Given the description of an element on the screen output the (x, y) to click on. 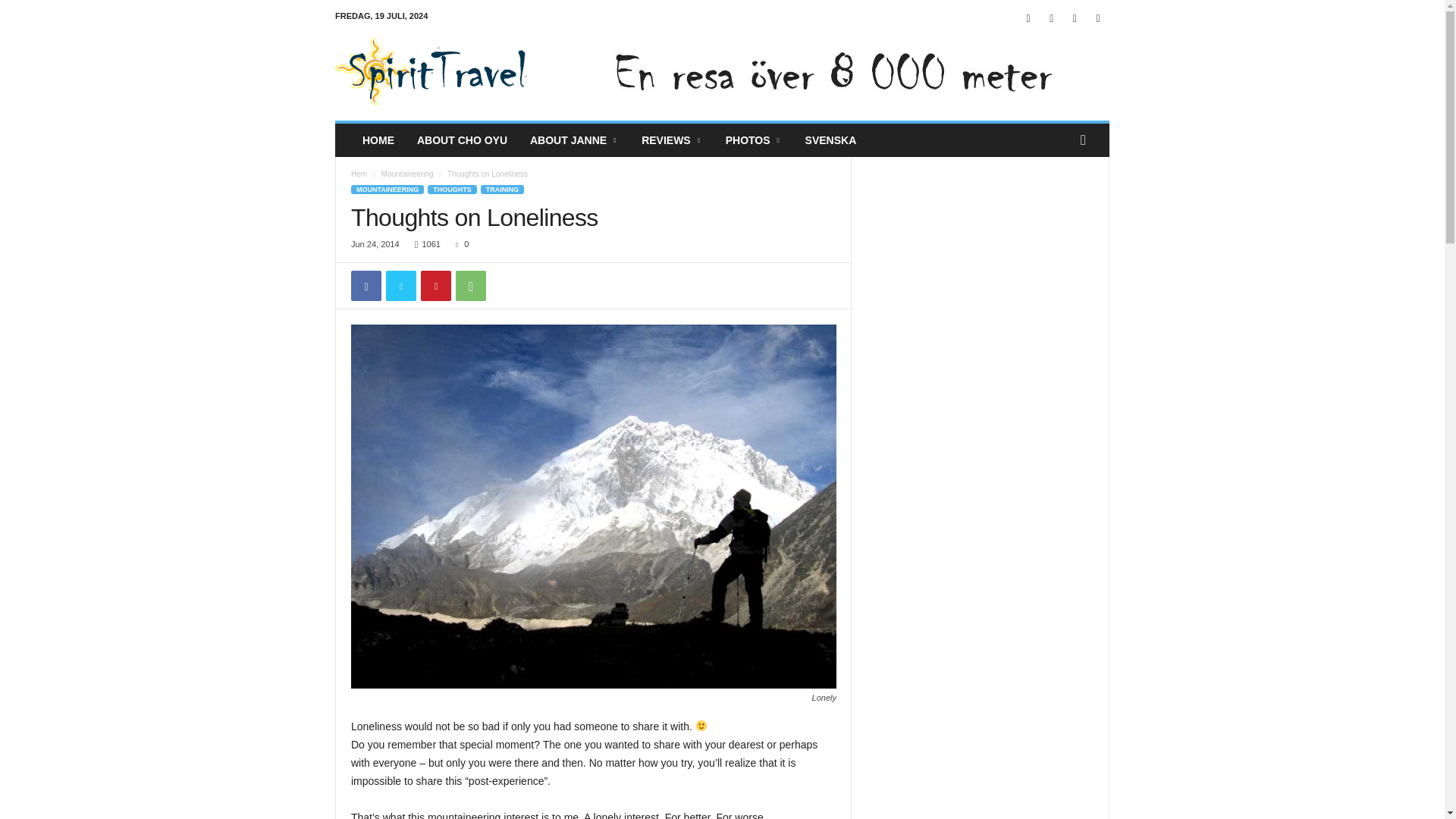
Visa alla poster i Mountaineering (407, 173)
Facebook (365, 286)
REVIEWS (672, 140)
ABOUT CHO OYU (462, 140)
SVENSKA (830, 140)
RSS (1074, 18)
Hem (358, 173)
Twitter (1097, 18)
0 (458, 243)
Facebook (1027, 18)
MOUNTAINEERING (386, 189)
THOUGHTS (452, 189)
PHOTOS (753, 140)
